Given the description of an element on the screen output the (x, y) to click on. 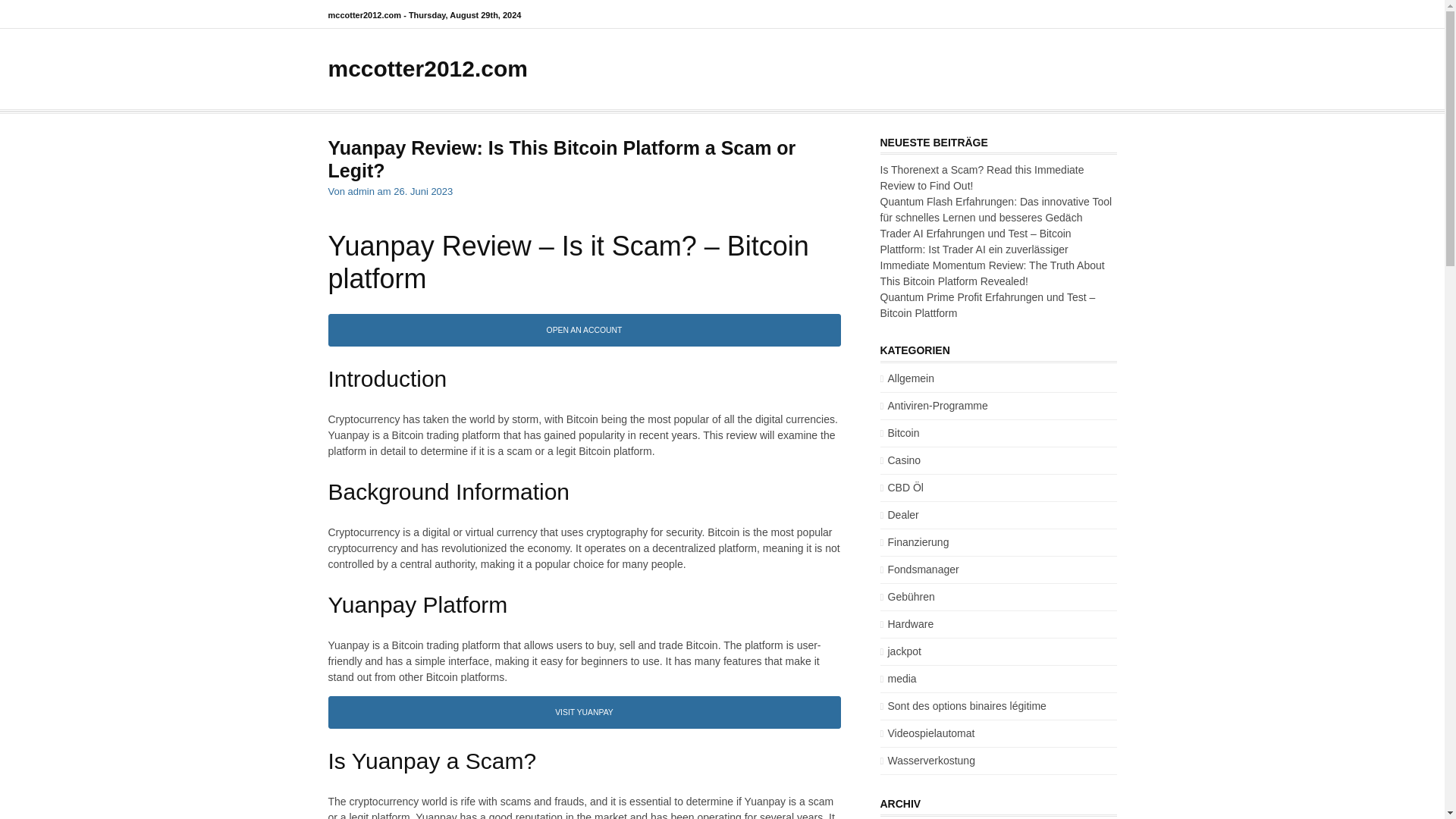
Allgemein (906, 378)
Is Thorenext a Scam? Read this Immediate Review to Find Out! (981, 177)
Antiviren-Programme (933, 405)
Hardware (906, 623)
Casino (899, 460)
Bitcoin (898, 432)
OPEN AN ACCOUNT (583, 328)
media (897, 678)
OPEN AN ACCOUNT (583, 330)
Finanzierung (914, 541)
